Given the description of an element on the screen output the (x, y) to click on. 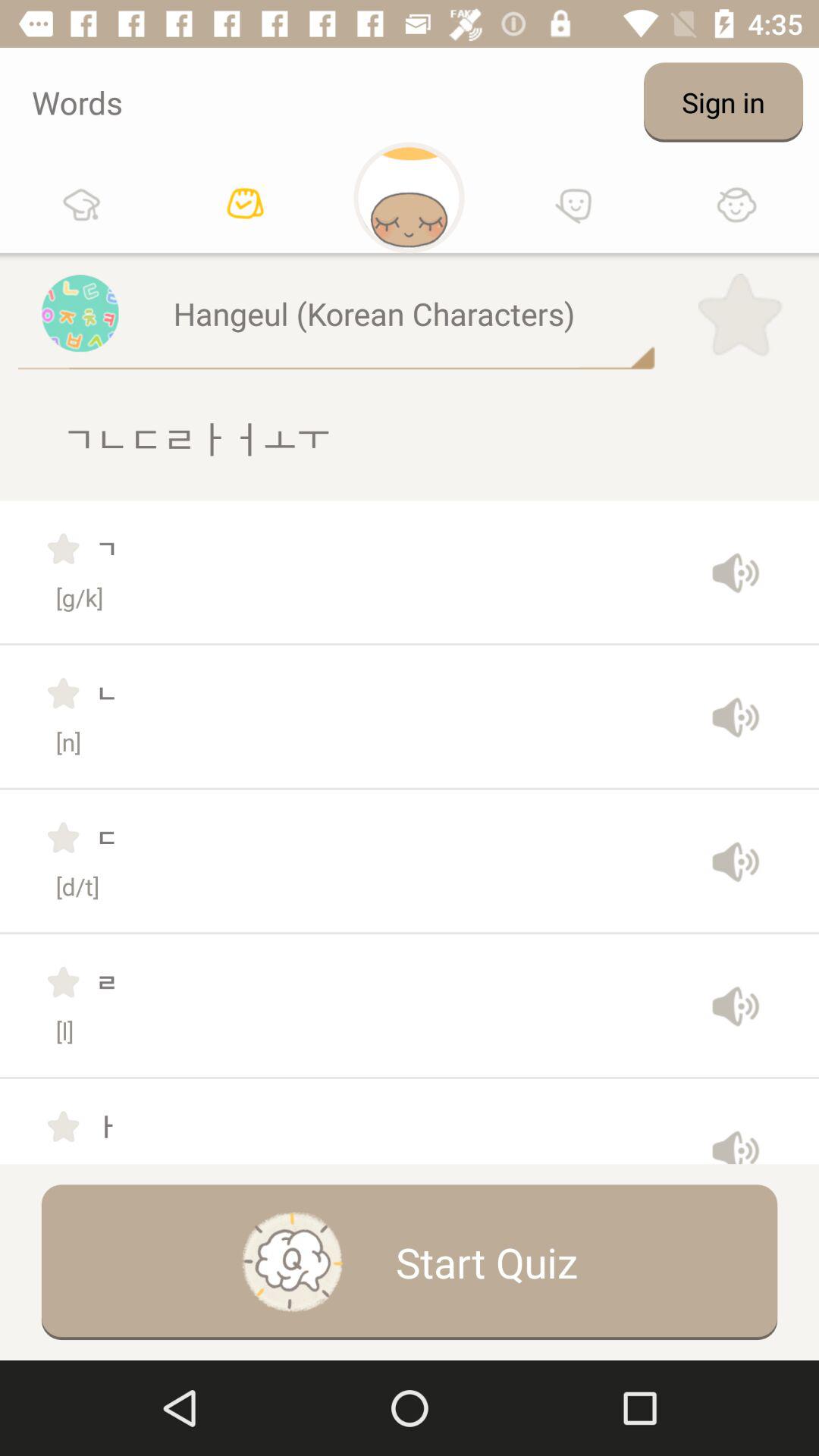
choose icon next to the hangeul (korean characters) (740, 314)
